Given the description of an element on the screen output the (x, y) to click on. 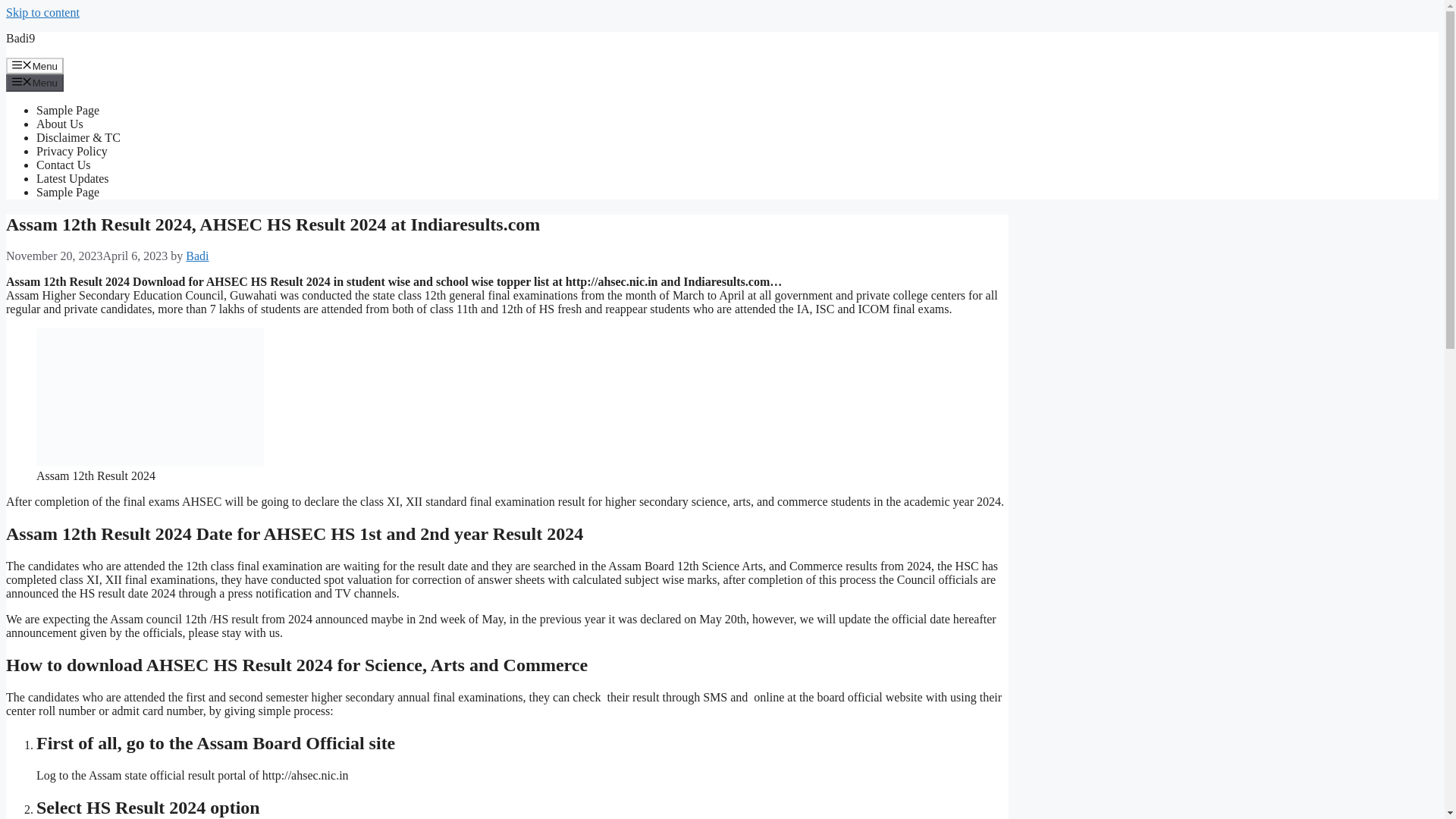
Sample Page (67, 110)
Sample Page (67, 192)
Badi9 (19, 38)
Menu (34, 65)
Menu (34, 82)
Privacy Policy (71, 151)
Latest Updates (72, 178)
Skip to content (42, 11)
Badi (197, 255)
Skip to content (42, 11)
View all posts by Badi (197, 255)
About Us (59, 123)
Contact Us (63, 164)
